Given the description of an element on the screen output the (x, y) to click on. 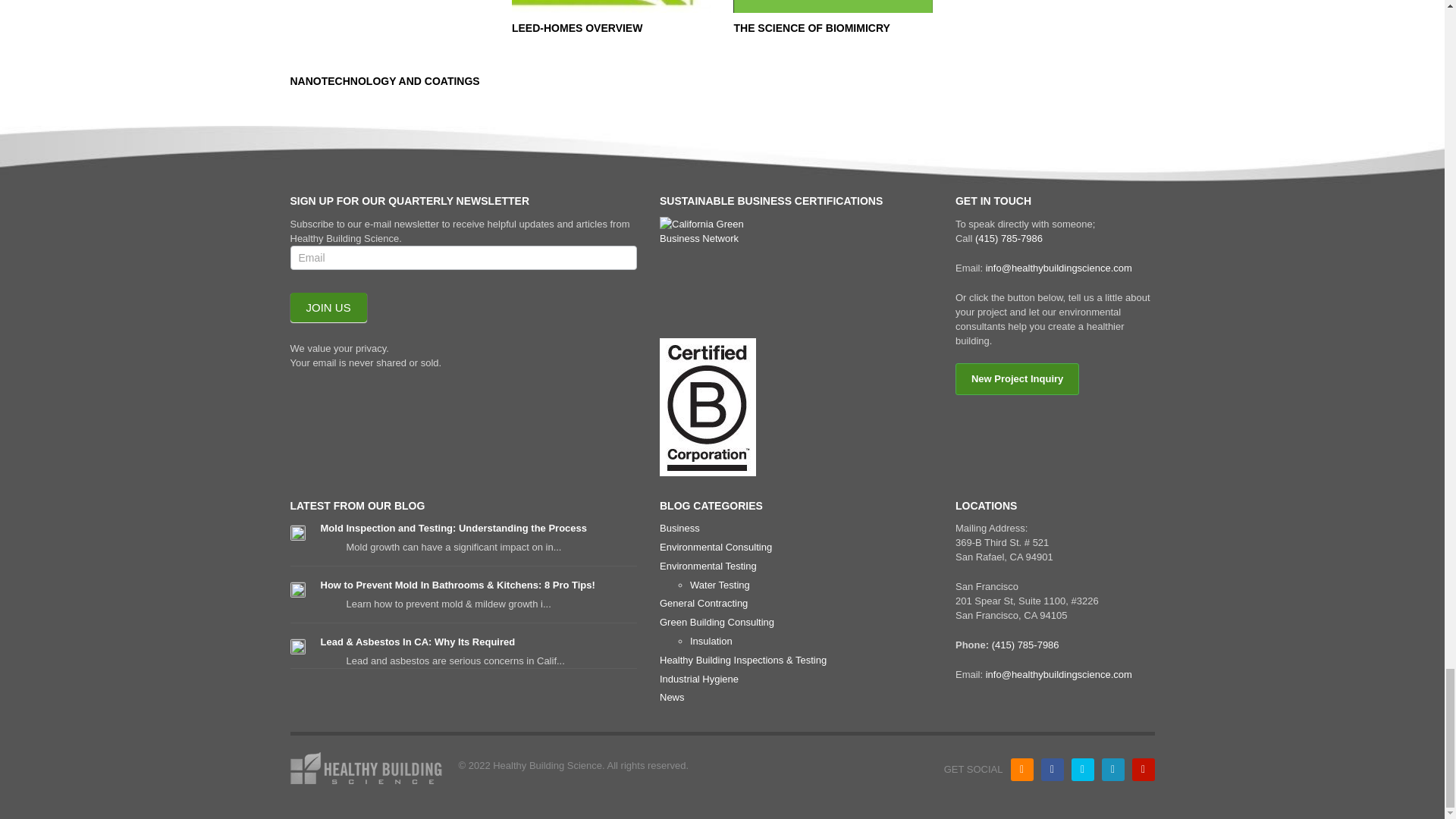
Mold Inspection and Testing: Understanding the Process (453, 527)
Facebook (1051, 769)
LinkedIn (1112, 769)
Biomimicry-Logo (832, 6)
Twitter (1081, 769)
RSS (1021, 769)
